Given the description of an element on the screen output the (x, y) to click on. 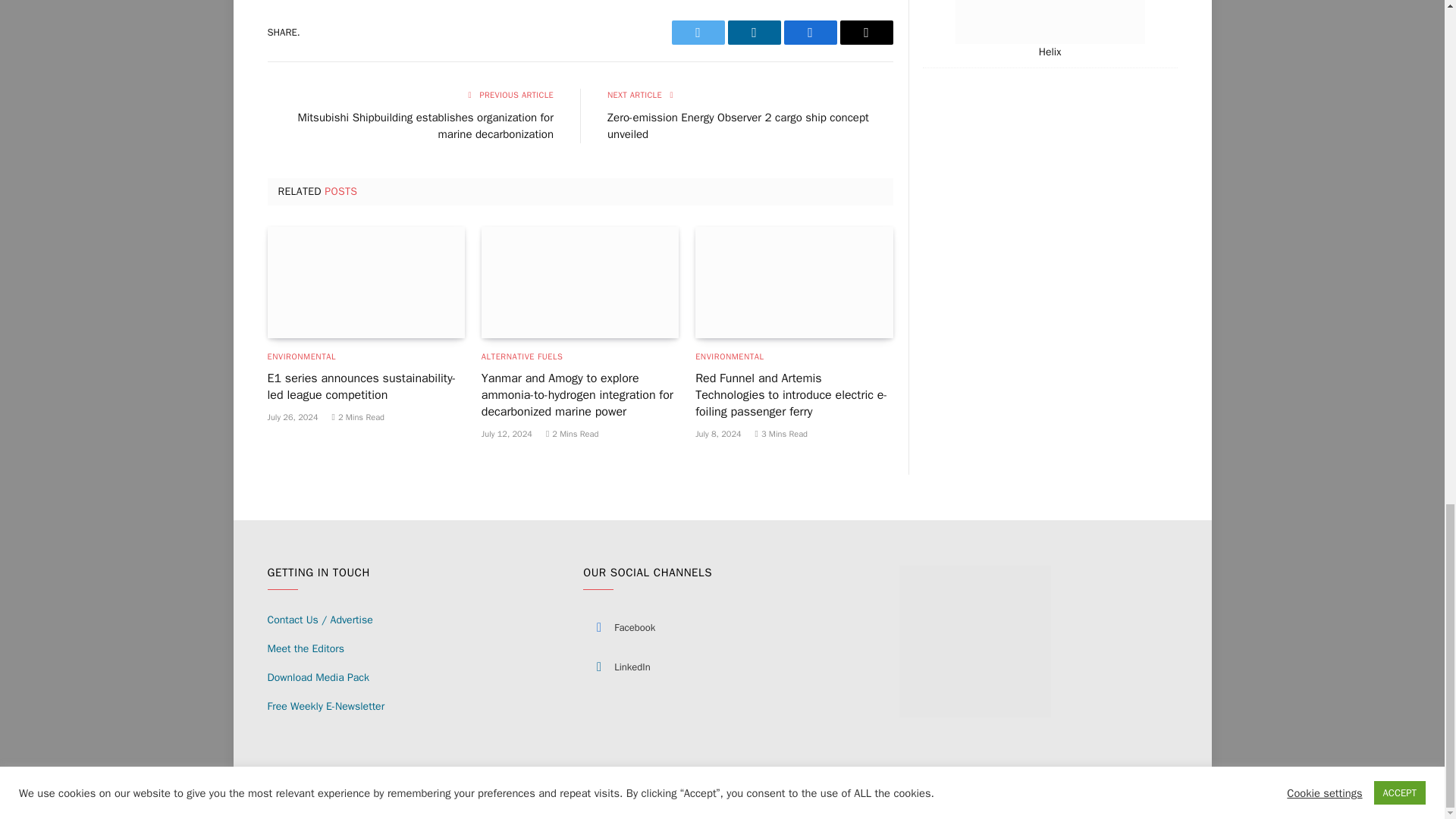
Share on Twitter (698, 32)
